Given the description of an element on the screen output the (x, y) to click on. 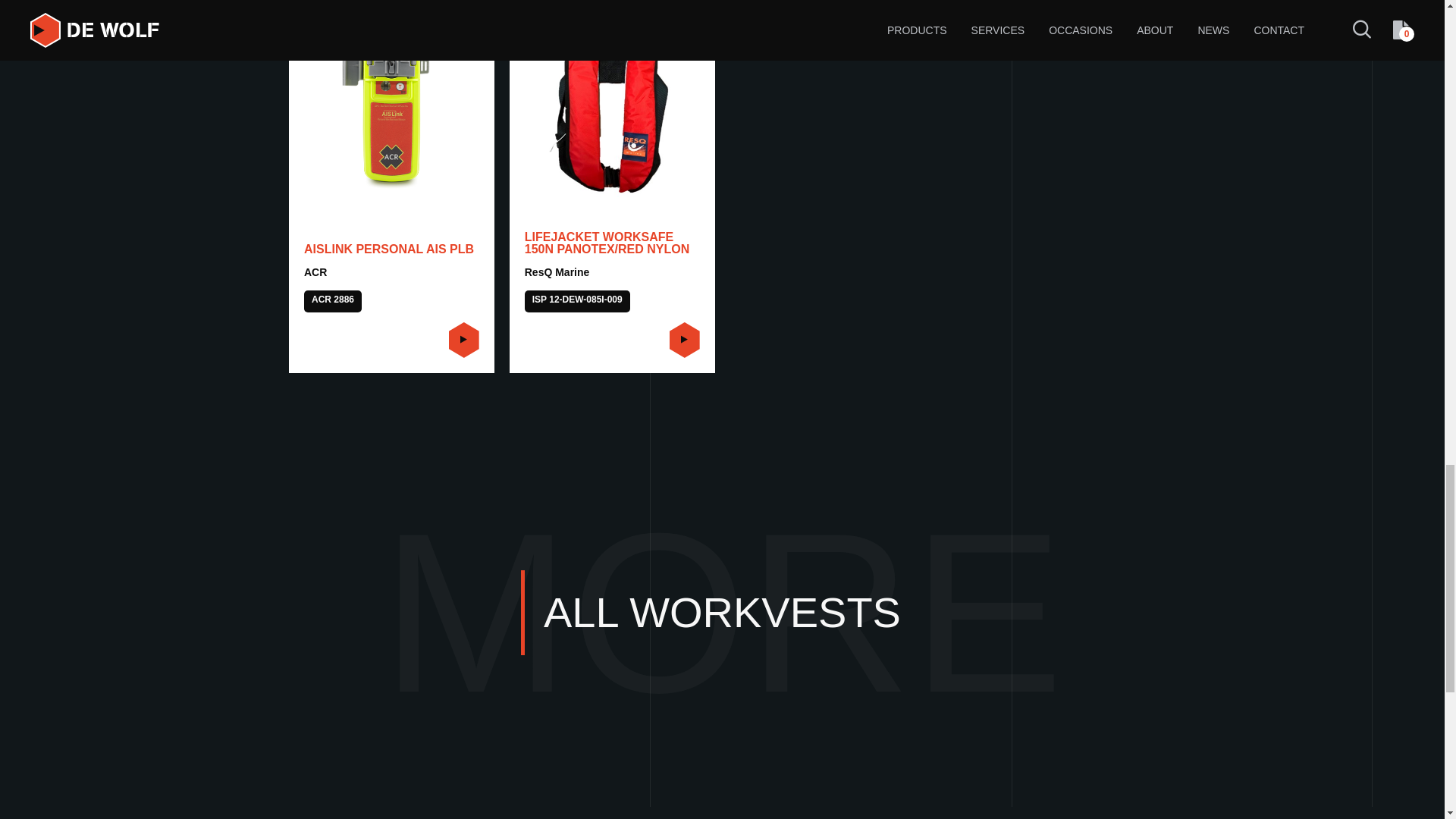
ALL WORKVESTS (722, 612)
